Given the description of an element on the screen output the (x, y) to click on. 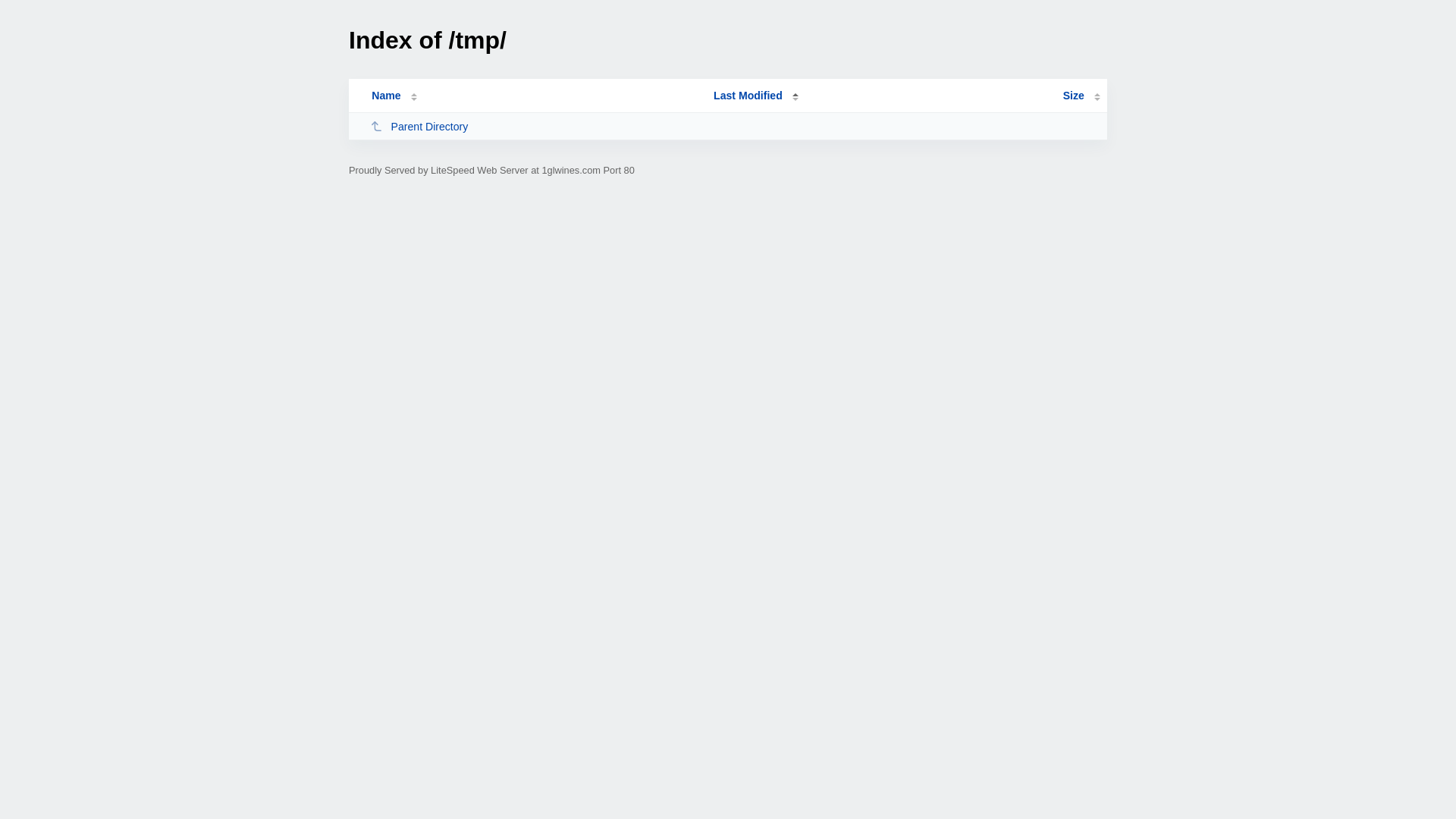
Size Element type: text (1081, 95)
Parent Directory Element type: text (534, 125)
Name Element type: text (385, 95)
Last Modified Element type: text (755, 95)
